Given the description of an element on the screen output the (x, y) to click on. 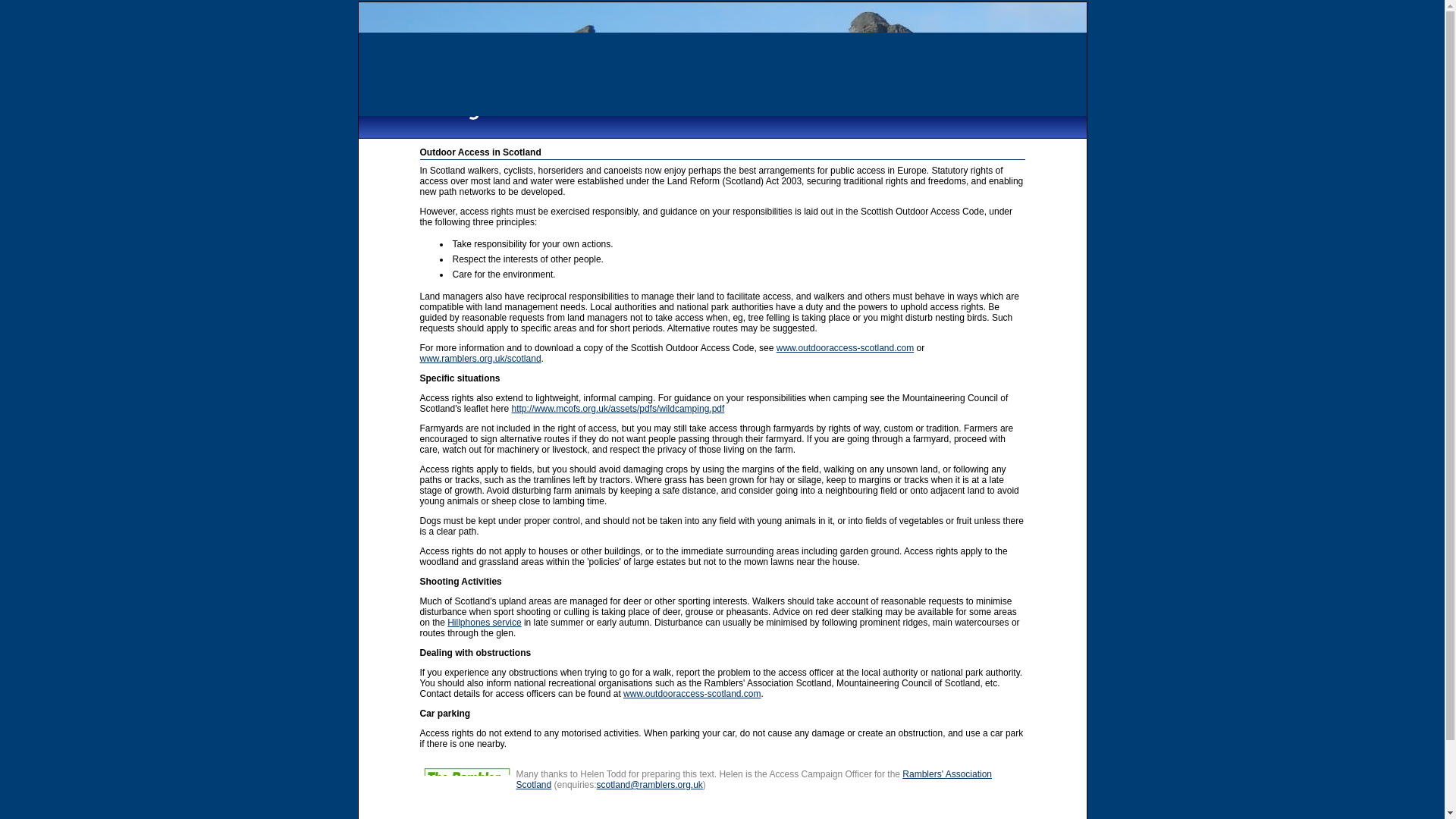
www.outdooraccess-scotland.com (845, 347)
Ramblers' Association Scotland (753, 779)
Hillphones service (483, 622)
www.outdooraccess-scotland.com (691, 693)
